Given the description of an element on the screen output the (x, y) to click on. 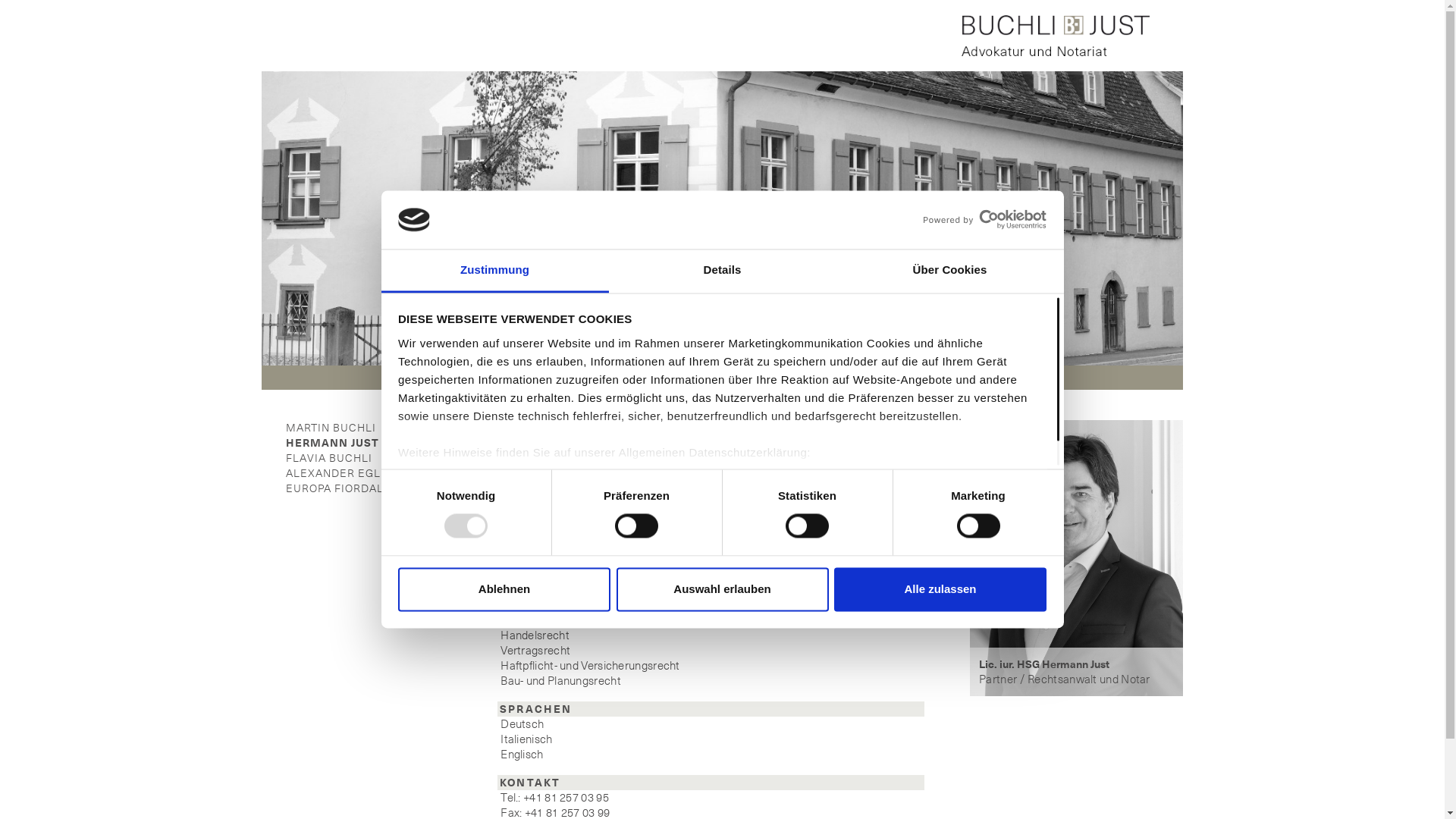
Alle zulassen Element type: text (940, 589)
ALEXANDER EGLI Element type: text (334, 473)
KARRIERE Element type: text (807, 377)
Ablehnen Element type: text (504, 589)
TEAM Element type: text (693, 377)
Details Element type: text (721, 270)
MARTIN BUCHLI Element type: text (330, 427)
NOTARIAT Element type: text (580, 377)
Auswahl erlauben Element type: text (721, 589)
KONTAKT / ANFAHRT Element type: text (969, 377)
Zustimmung Element type: text (494, 270)
FLAVIA BUCHLI Element type: text (328, 457)
EUROPA FIORDALISI-HUNGER Element type: text (367, 488)
ADVOKATUR Element type: text (446, 377)
HERMANN JUST Element type: text (332, 442)
